Given the description of an element on the screen output the (x, y) to click on. 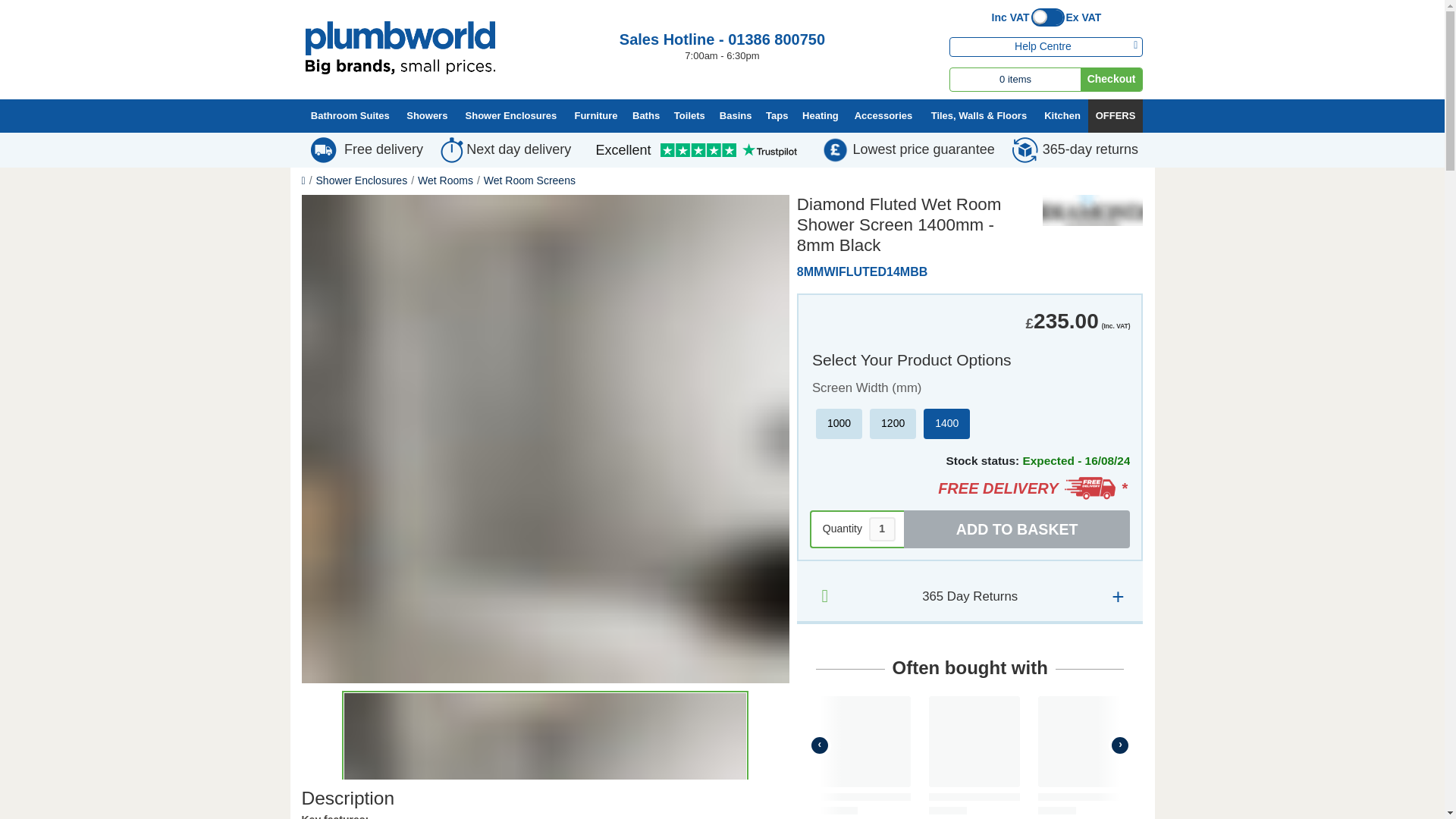
Showers (426, 116)
Plumbworld (399, 47)
Checkout (1111, 78)
1 (882, 528)
Sales Hotline - 01386 800750 (721, 39)
Bathroom Suites (349, 116)
0 items (1015, 79)
